Given the description of an element on the screen output the (x, y) to click on. 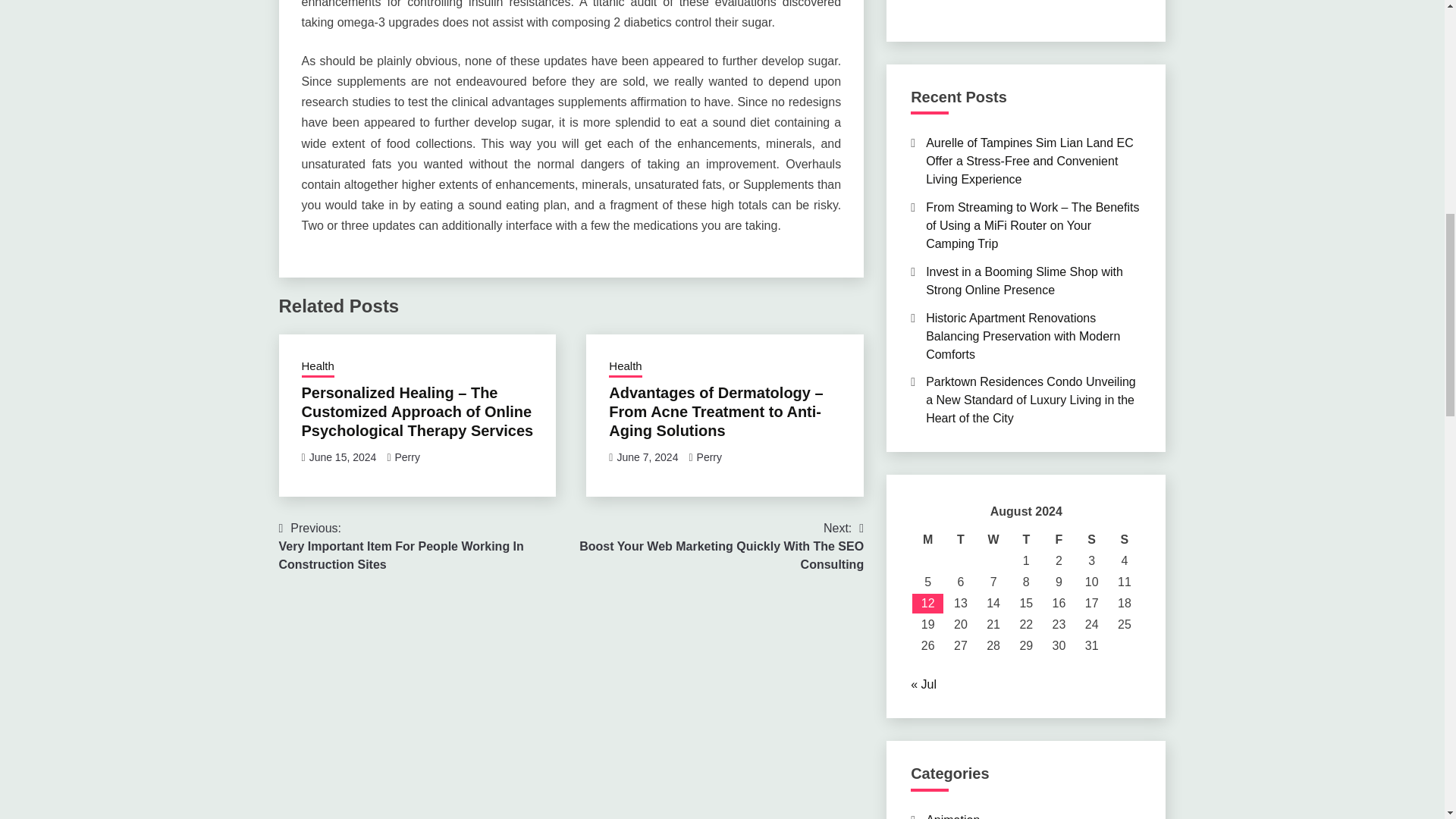
Thursday (1026, 539)
June 15, 2024 (342, 457)
Animation (952, 816)
Saturday (1090, 539)
Sunday (1124, 539)
Tuesday (959, 539)
